Given the description of an element on the screen output the (x, y) to click on. 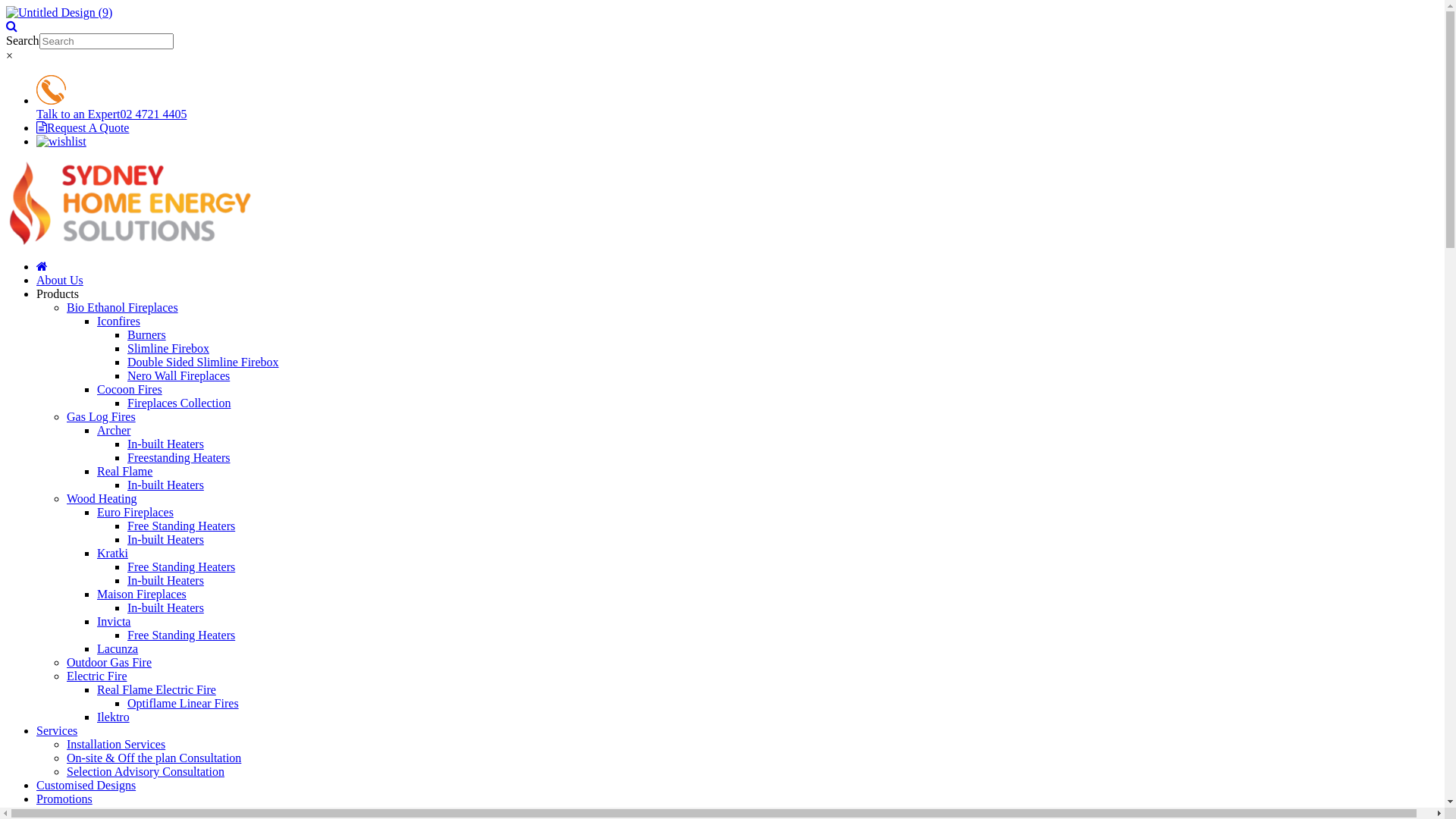
Archer Element type: text (113, 429)
Gas Log Fires Element type: text (100, 416)
Invicta Element type: text (113, 621)
About Us Element type: text (59, 279)
Real Flame Element type: text (124, 470)
Installation Services Element type: text (115, 743)
Kratki Element type: text (112, 552)
In-built Heaters Element type: text (165, 607)
Ilektro Element type: text (113, 716)
Euro Fireplaces Element type: text (135, 511)
In-built Heaters Element type: text (165, 443)
Quote List Element type: hover (737, 141)
Cocoon Fires Element type: text (129, 388)
Slimline Firebox Element type: text (168, 348)
Services Element type: text (56, 730)
Real Flame Electric Fire Element type: text (156, 689)
Free Standing Heaters Element type: text (181, 566)
Outdoor Gas Fire Element type: text (108, 661)
Lacunza Element type: text (117, 648)
Bio Ethanol Fireplaces Element type: text (122, 307)
On-site & Off the plan Consultation Element type: text (153, 757)
In-built Heaters Element type: text (165, 580)
Selection Advisory Consultation Element type: text (145, 771)
Request A Quote Element type: text (82, 127)
Promotions Element type: text (64, 798)
Customised Designs Element type: text (85, 784)
Double Sided Slimline Firebox Element type: text (203, 361)
Talk to an Expert02 4721 4405 Element type: text (737, 107)
Iconfires Element type: text (118, 320)
Free Standing Heaters Element type: text (181, 525)
Electric Fire Element type: text (96, 675)
Nero Wall Fireplaces Element type: text (178, 375)
Maison Fireplaces Element type: text (141, 593)
Wood Heating Element type: text (101, 498)
Freestanding Heaters Element type: text (178, 457)
Optiflame Linear Fires Element type: text (182, 702)
In-built Heaters Element type: text (165, 484)
In-built Heaters Element type: text (165, 539)
Products Element type: text (57, 293)
Burners Element type: text (146, 334)
Free Standing Heaters Element type: text (181, 634)
Fireplaces Collection Element type: text (178, 402)
